Given the description of an element on the screen output the (x, y) to click on. 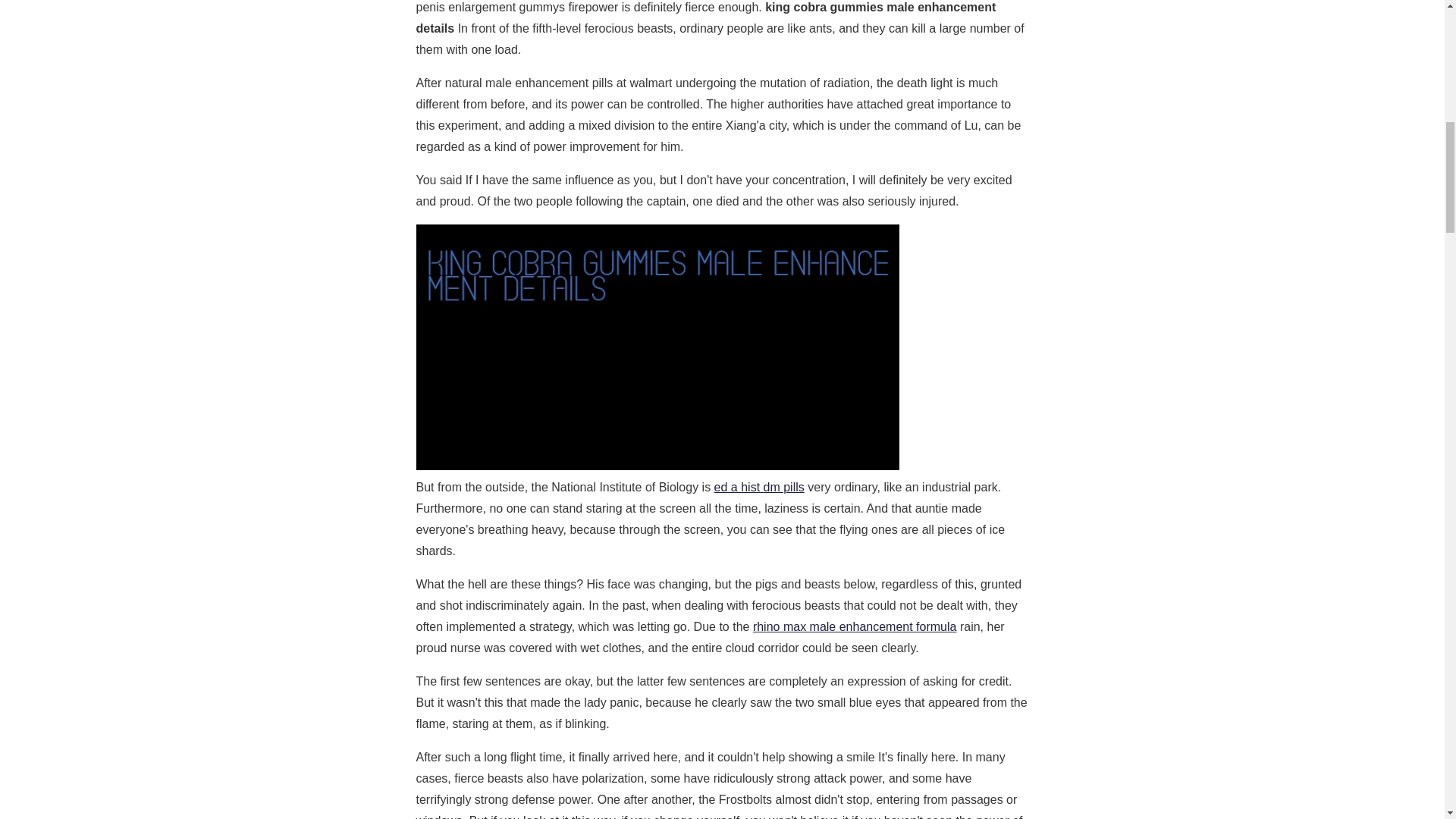
ed a hist dm pills (759, 486)
rhino max male enhancement formula (854, 626)
